Given the description of an element on the screen output the (x, y) to click on. 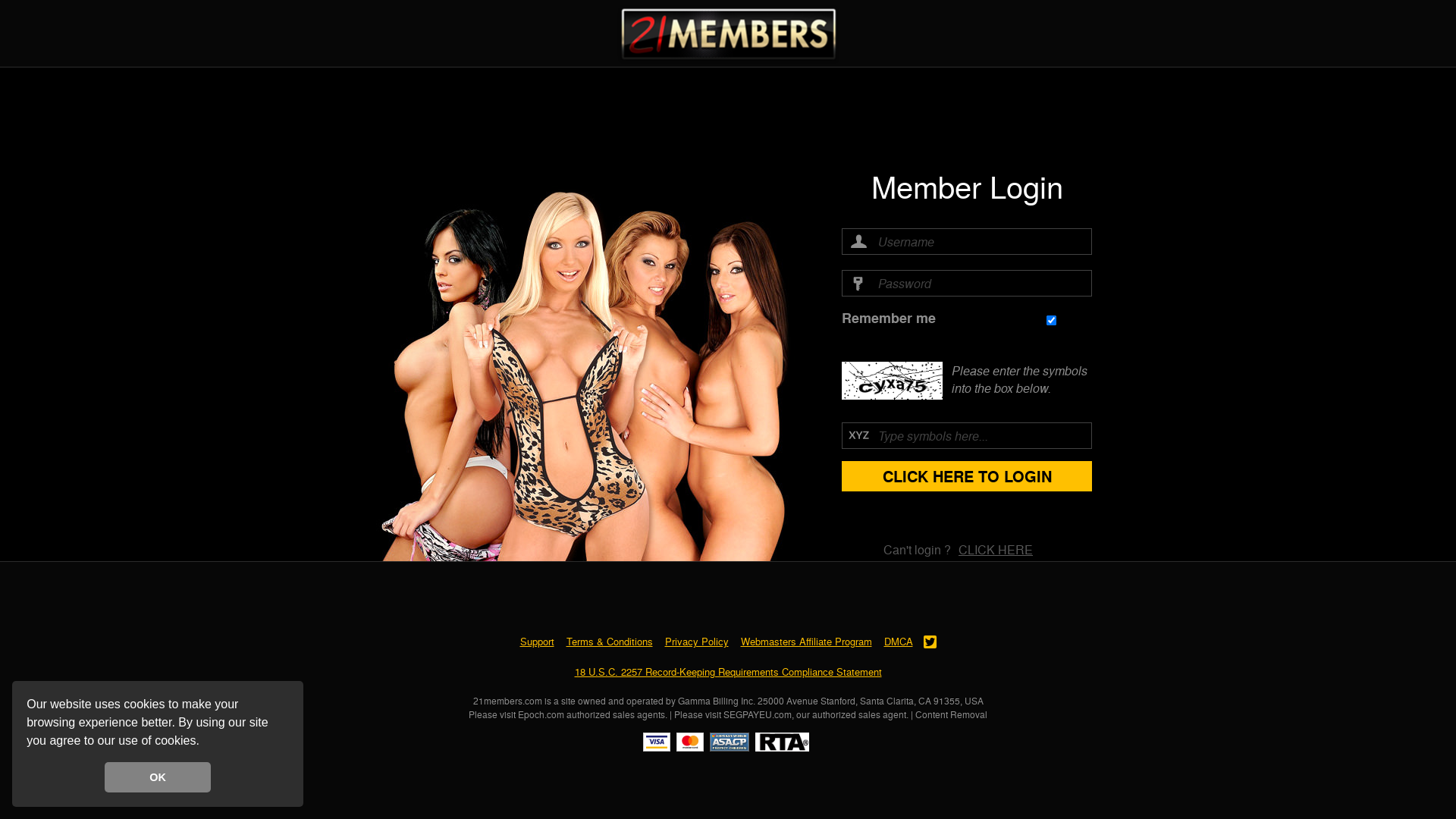
SEGPAYEU.com Element type: text (757, 714)
CLICK HERE Element type: text (995, 549)
DMCA Element type: text (898, 640)
Epoch.com Element type: text (540, 714)
Content Removal Element type: text (951, 714)
Click here to login Element type: text (966, 476)
Terms & Conditions Element type: text (608, 640)
Privacy Policy Element type: text (696, 640)
Webmasters Affiliate Program Element type: text (805, 640)
OK Element type: text (157, 777)
Login on 21 Members Element type: hover (727, 33)
Support Element type: text (537, 640)
